Given the description of an element on the screen output the (x, y) to click on. 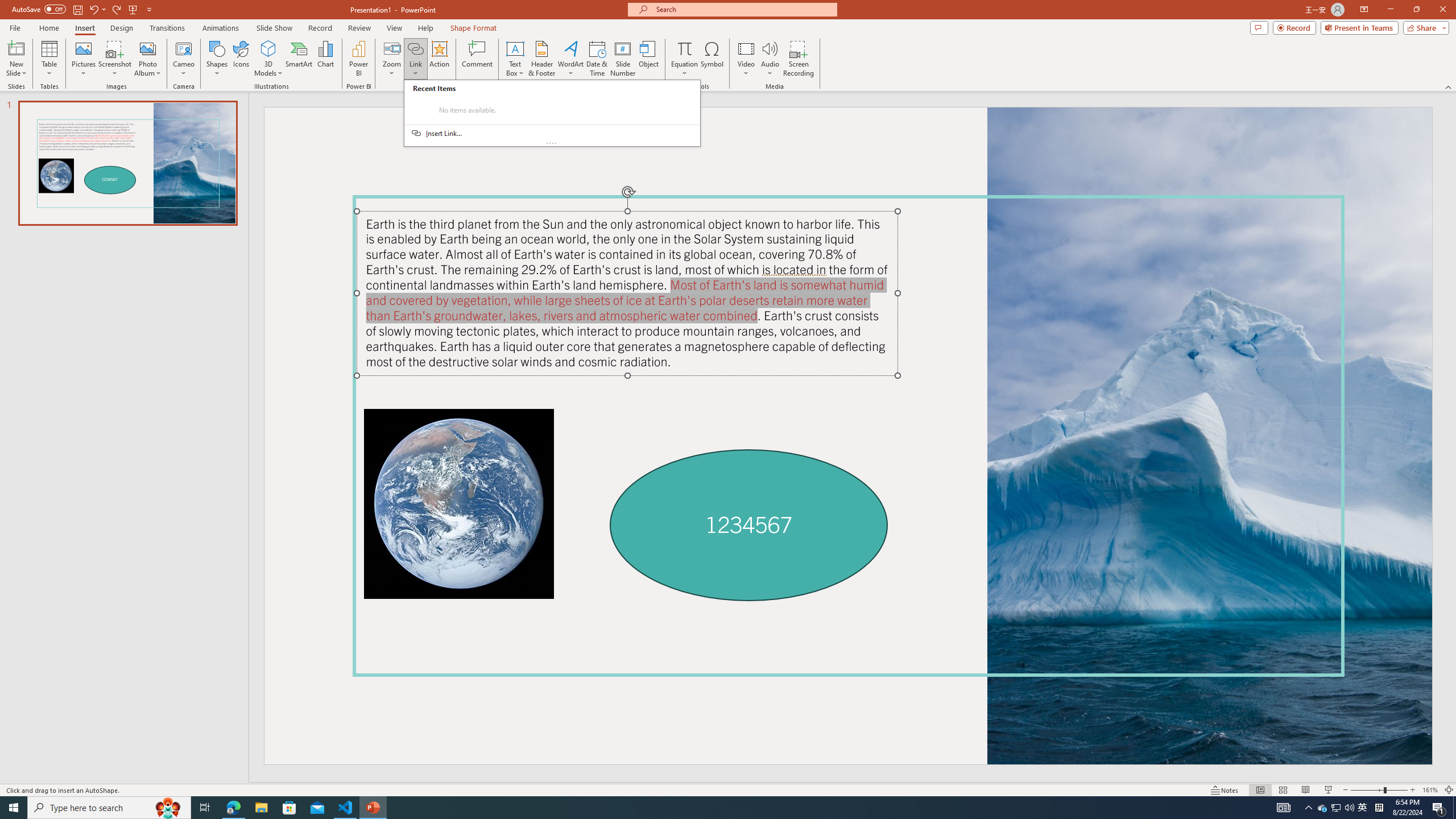
Symbol... (711, 58)
